Given the description of an element on the screen output the (x, y) to click on. 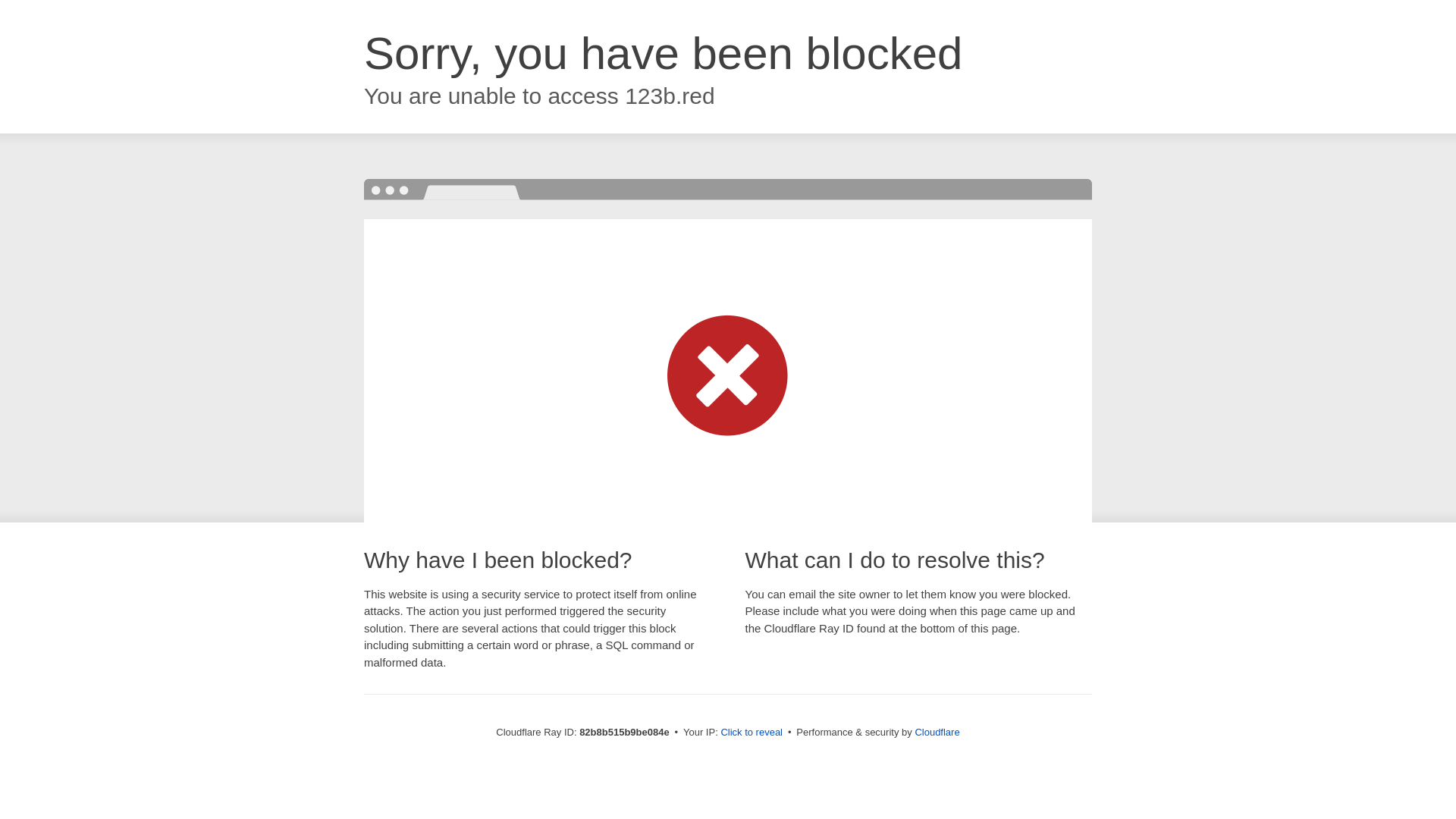
Cloudflare Element type: text (936, 731)
Click to reveal Element type: text (751, 732)
